Given the description of an element on the screen output the (x, y) to click on. 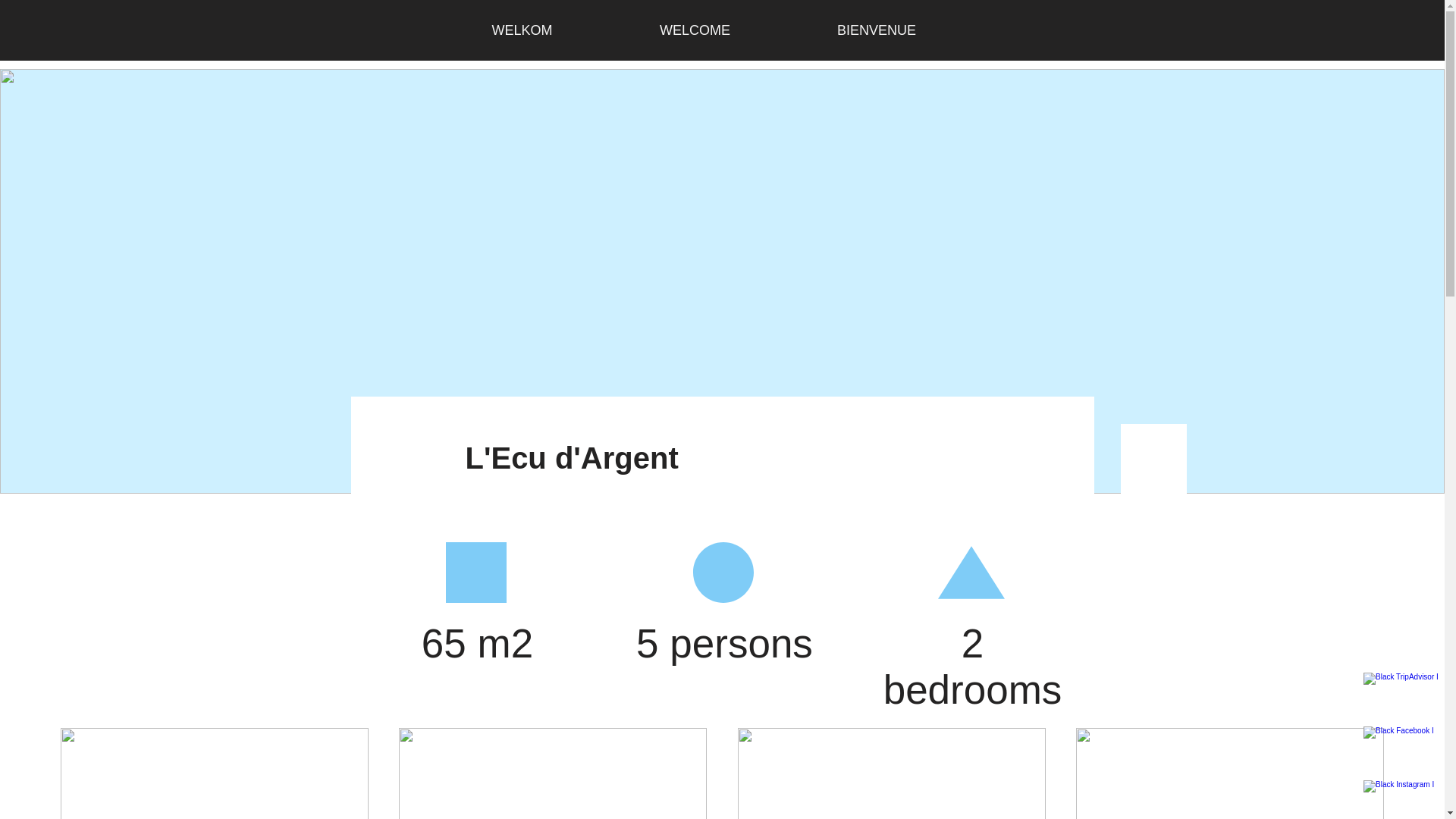
WELKOM Element type: text (522, 30)
BIENVENUE Element type: text (876, 30)
WELCOME Element type: text (695, 30)
